Given the description of an element on the screen output the (x, y) to click on. 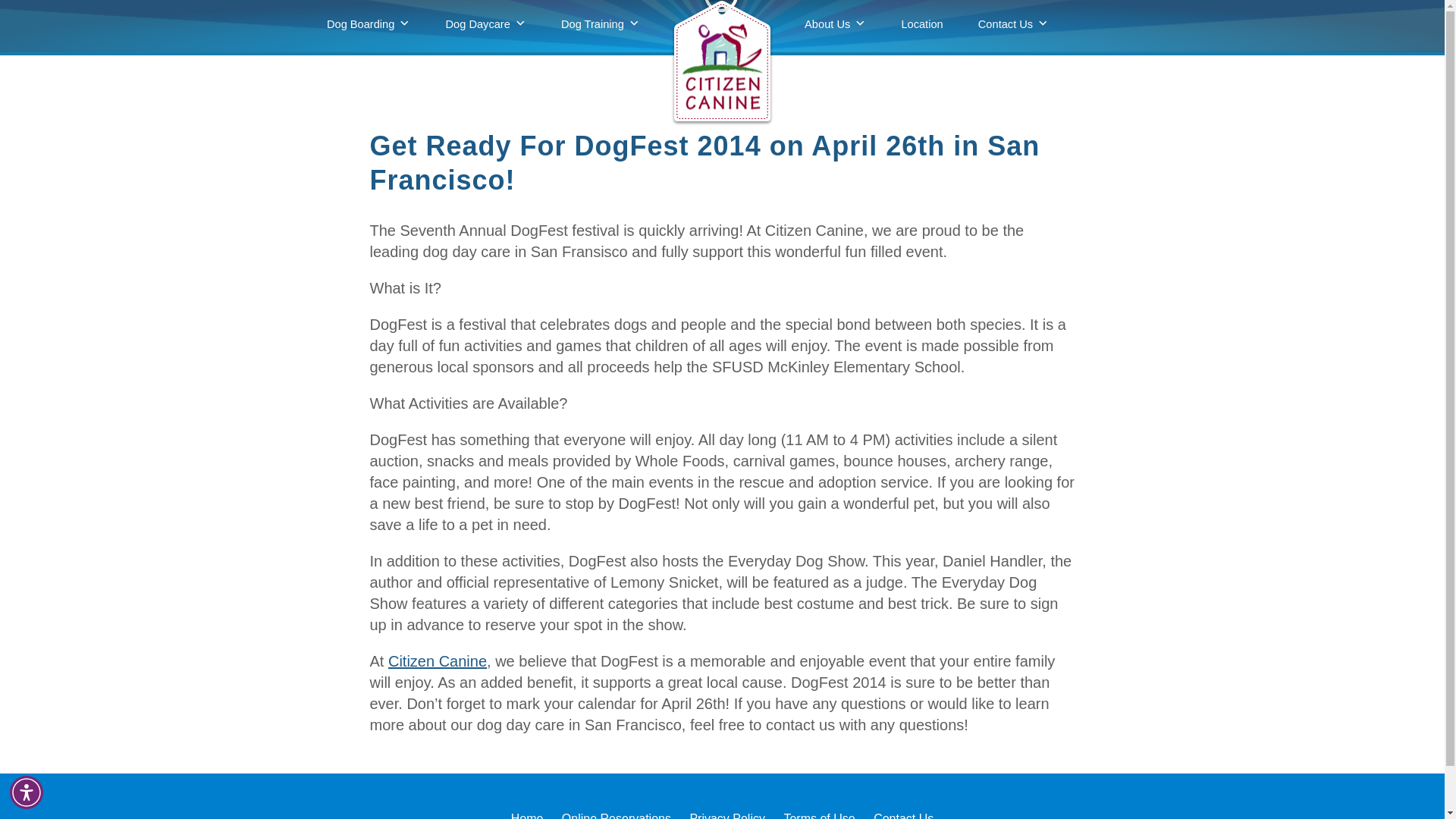
Location (922, 24)
About Us (835, 24)
Dog Daycare (485, 24)
Dog Boarding (368, 24)
Dog Training (600, 24)
Accessibility Menu (26, 792)
Contact Us (1013, 24)
